Given the description of an element on the screen output the (x, y) to click on. 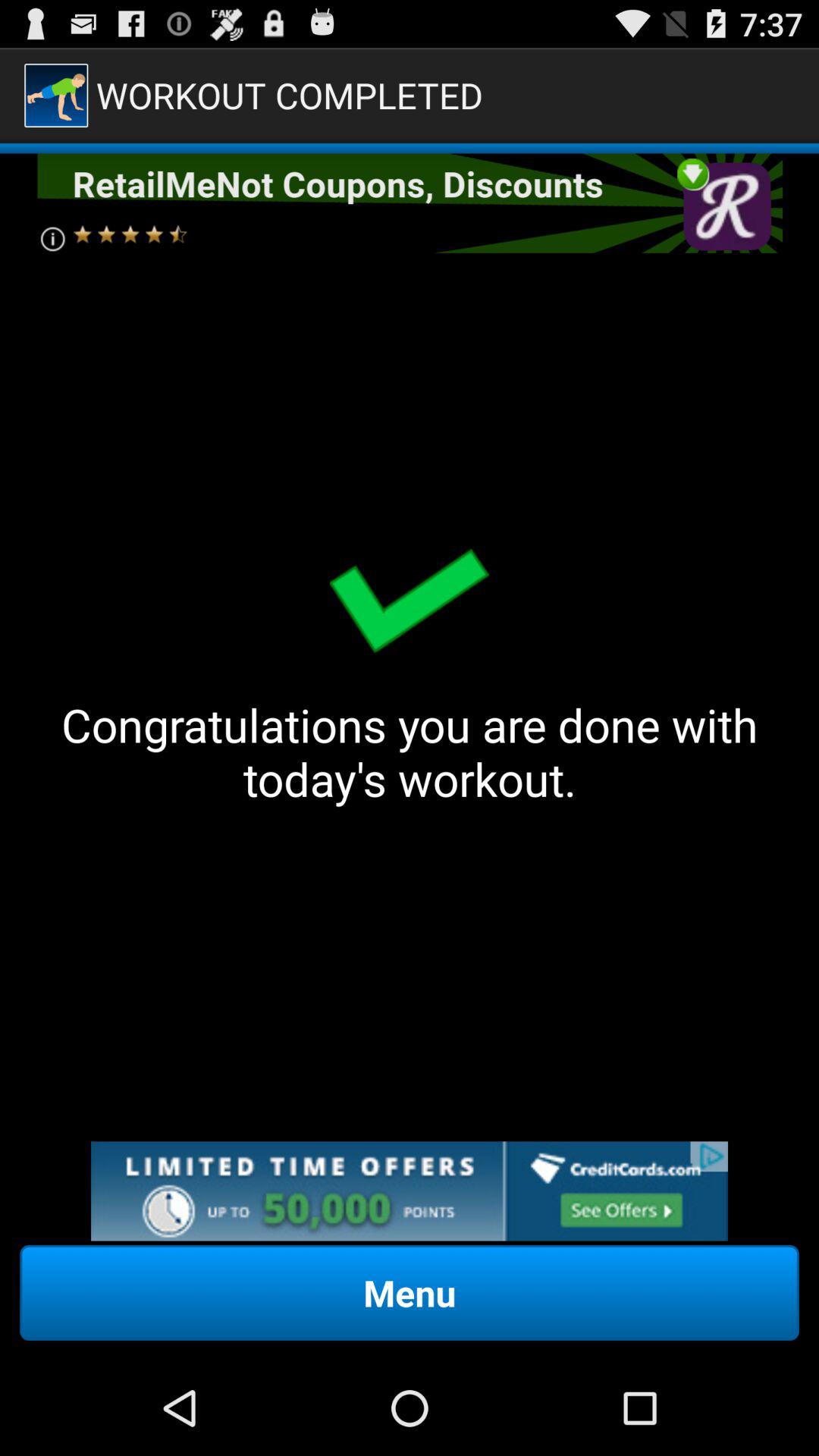
select the add (409, 1191)
